Given the description of an element on the screen output the (x, y) to click on. 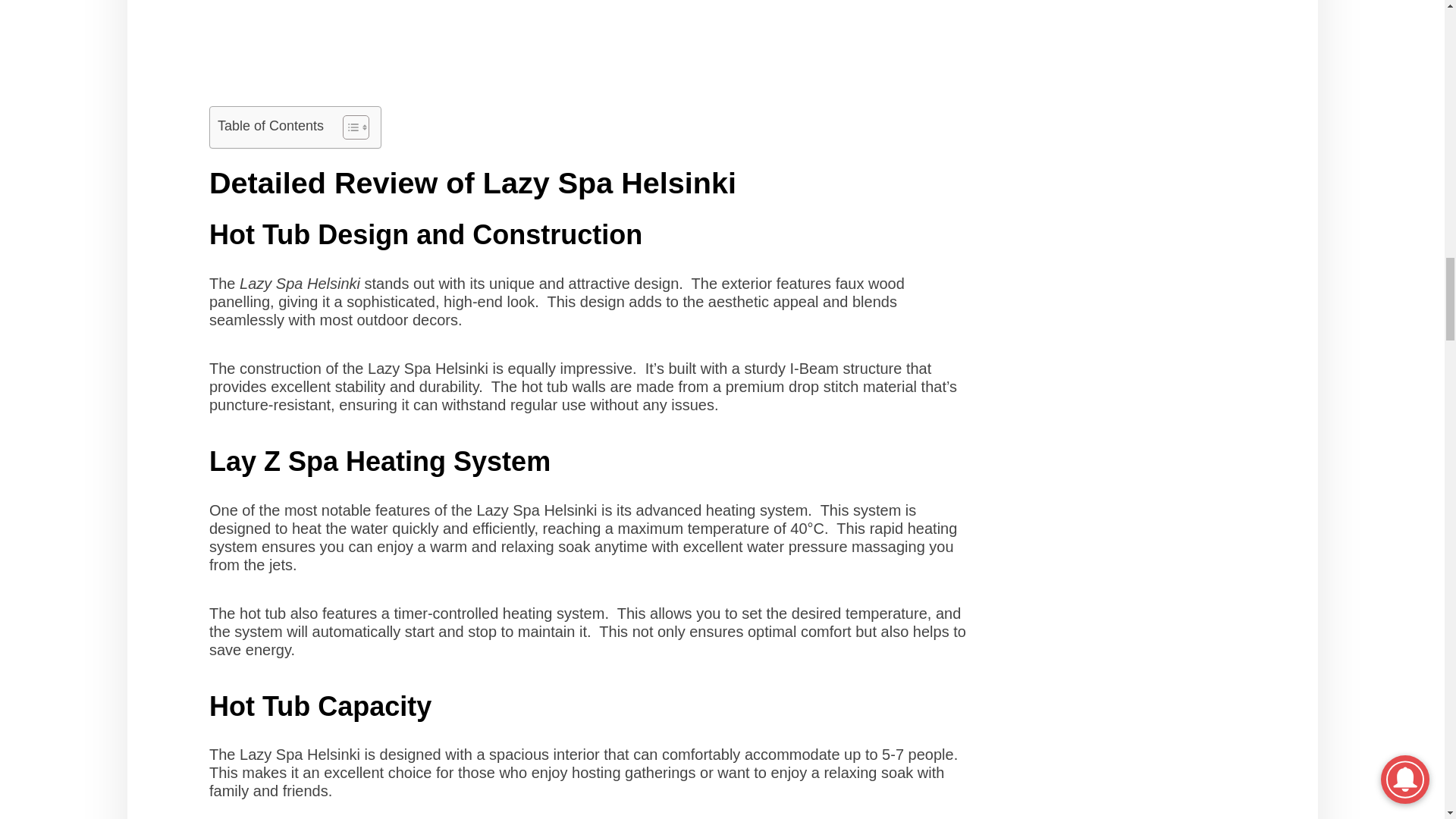
In-depth Review of The Lazy Spa Helsinki (588, 53)
